Given the description of an element on the screen output the (x, y) to click on. 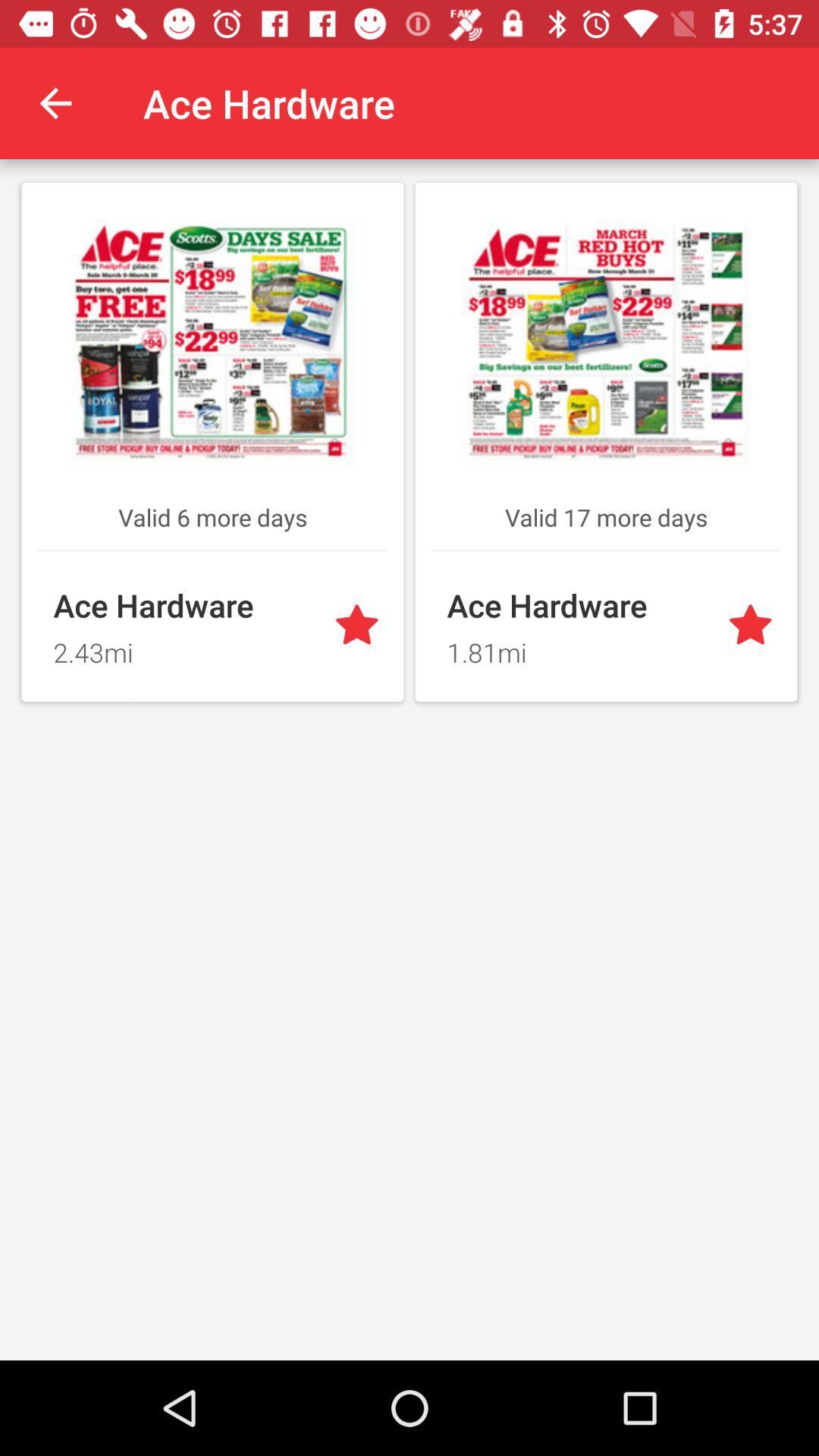
turn off 2.43mi item (184, 647)
